Given the description of an element on the screen output the (x, y) to click on. 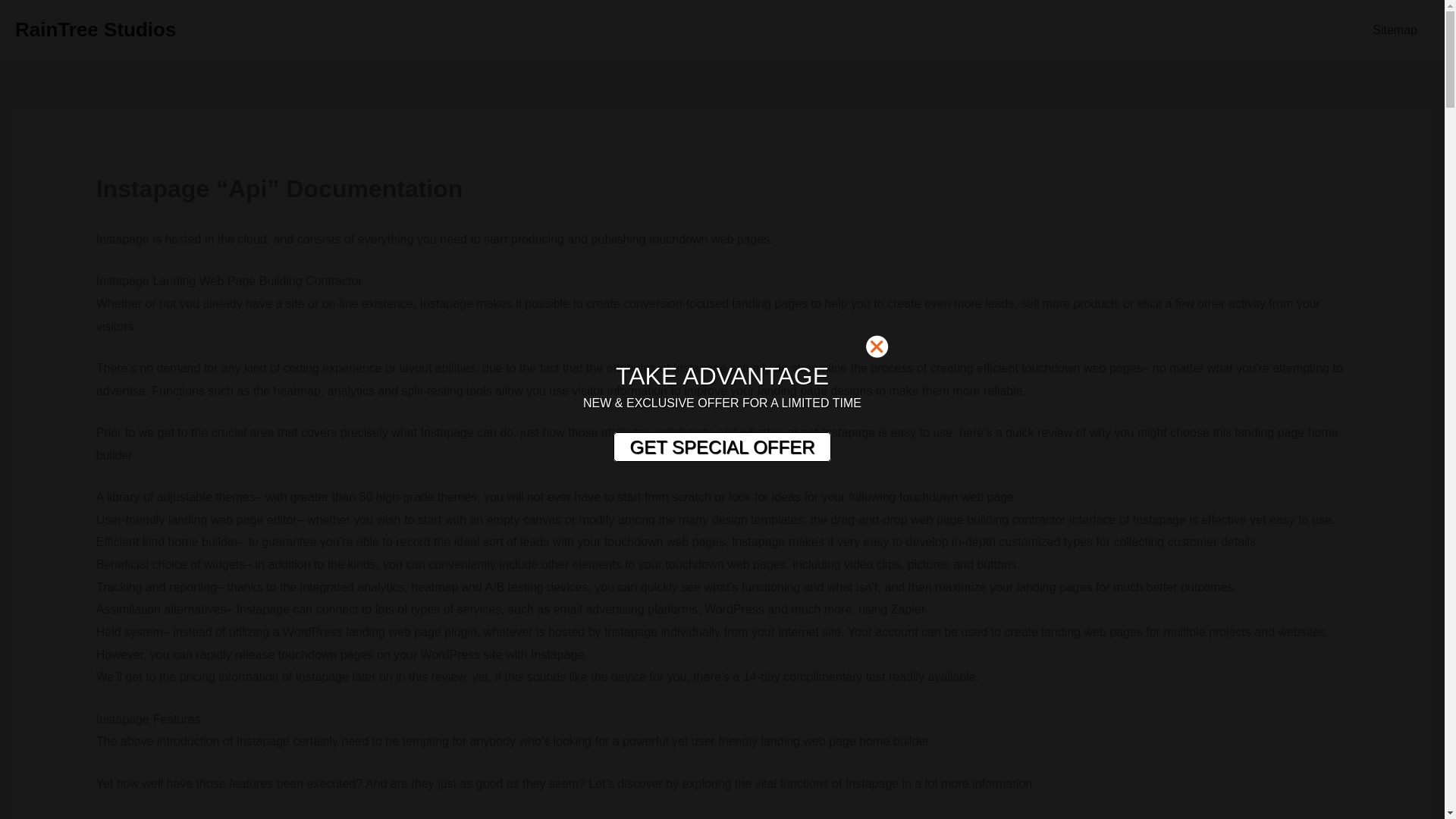
GET SPECIAL OFFER (720, 446)
RainTree Studios (95, 29)
Sitemap (1394, 30)
